Given the description of an element on the screen output the (x, y) to click on. 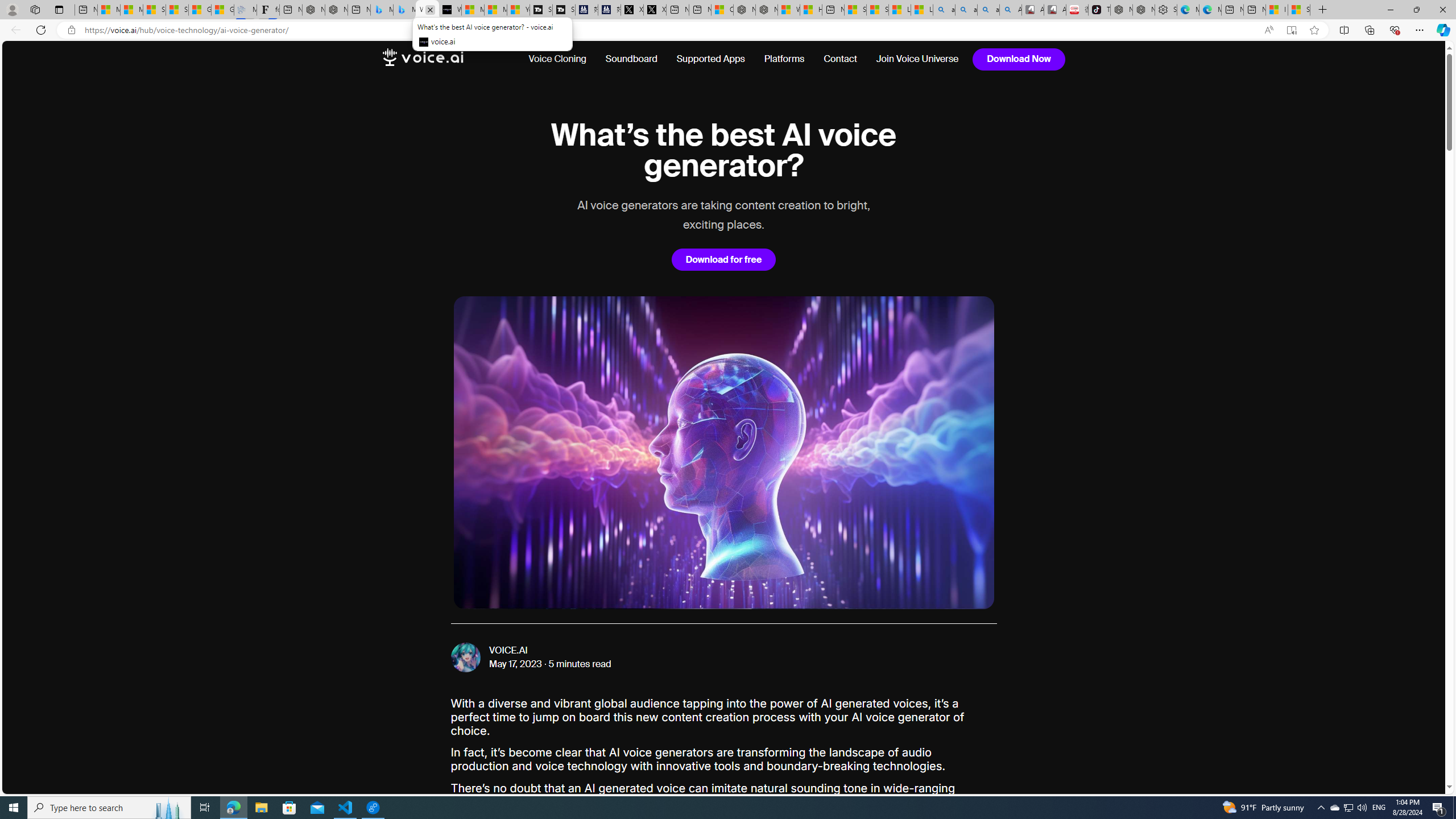
Settings (1166, 9)
May 17, 2023 (516, 663)
Contact (840, 59)
Soundboard (631, 59)
Nordace - #1 Japanese Best-Seller - Siena Smart Backpack (336, 9)
Platforms (784, 59)
